Given the description of an element on the screen output the (x, y) to click on. 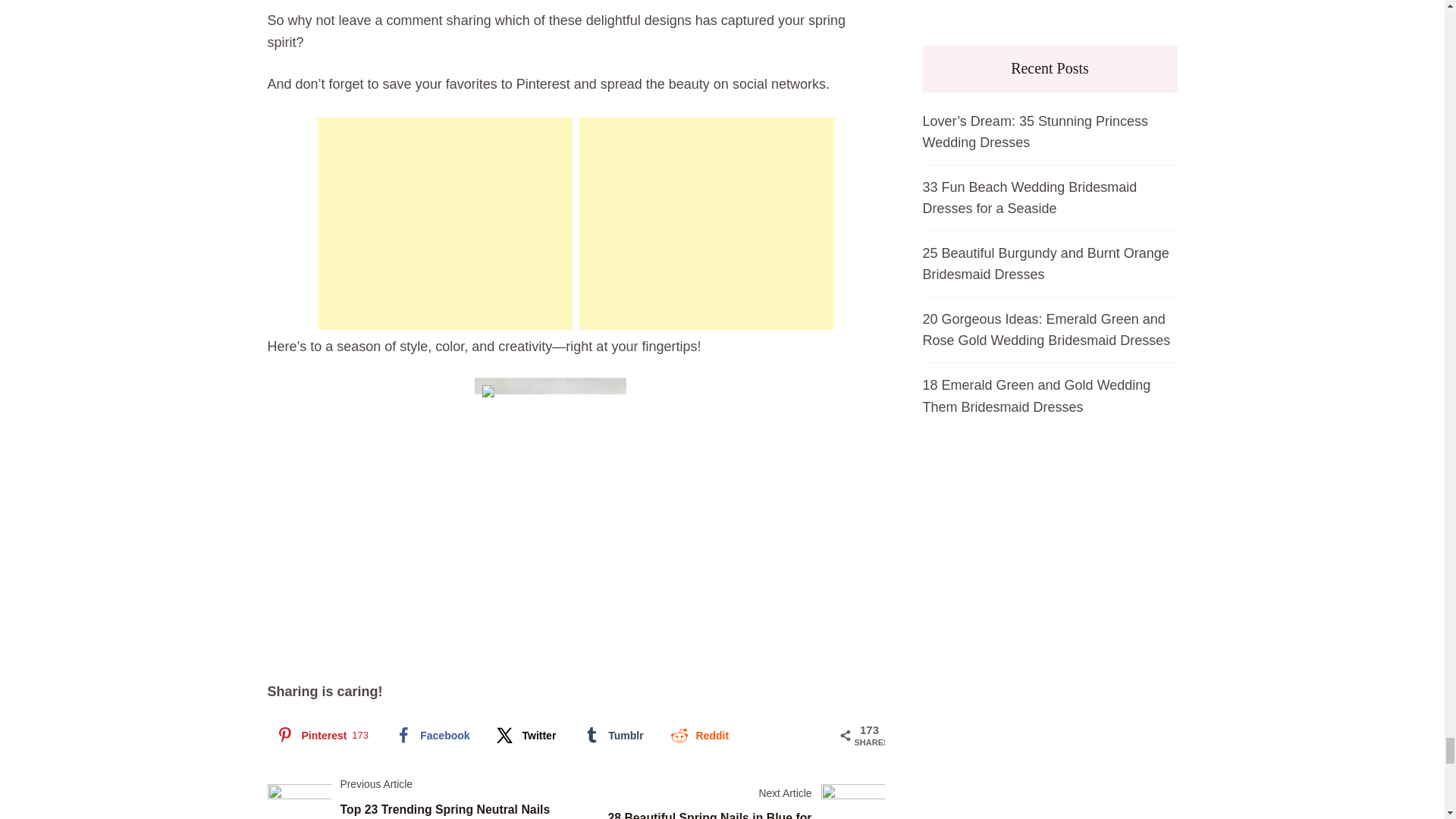
Share on Facebook (430, 735)
Share on Tumblr (611, 735)
Share on X (524, 735)
Save to Pinterest (320, 735)
Share on Reddit (698, 735)
